Given the description of an element on the screen output the (x, y) to click on. 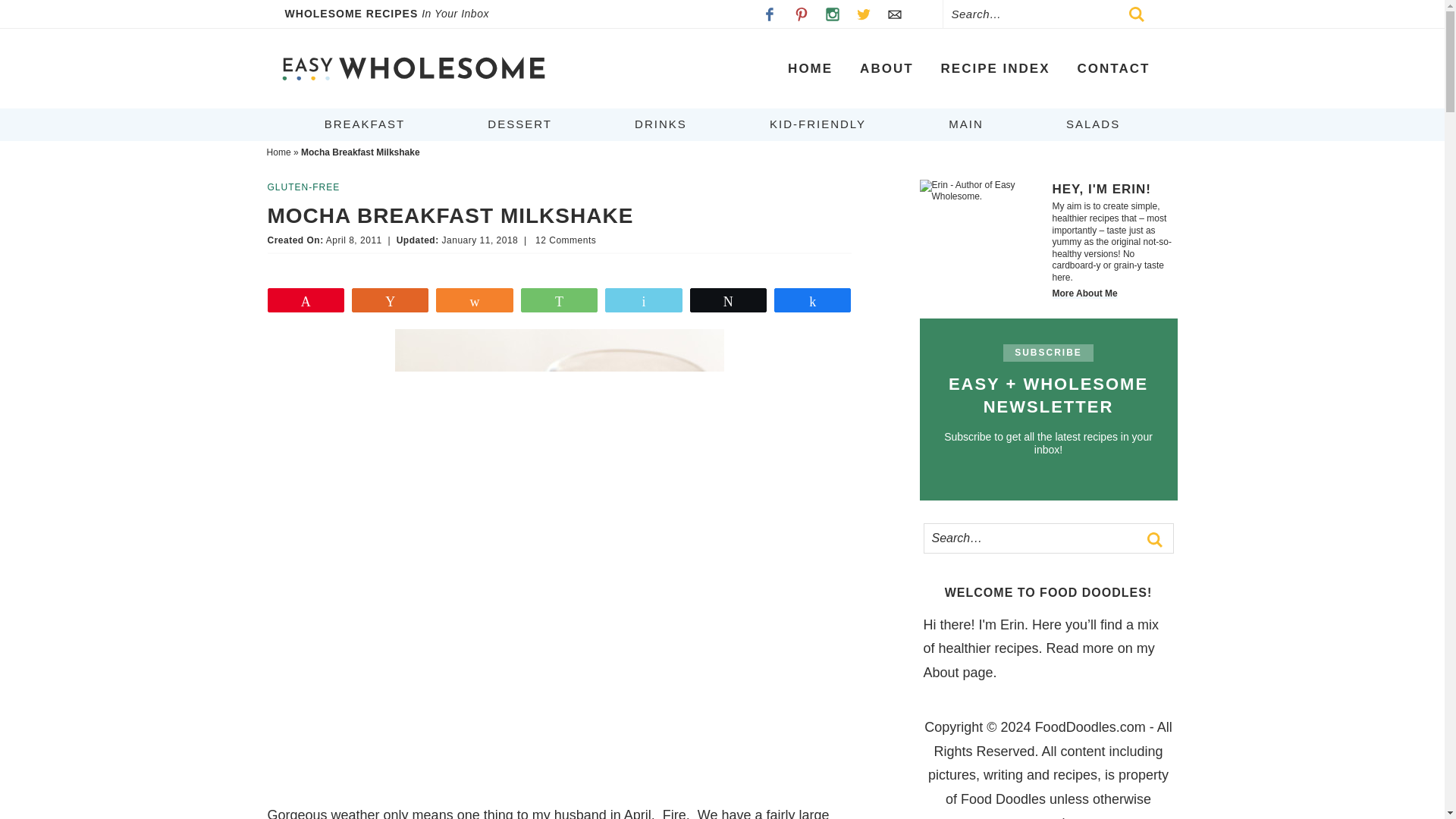
KID-FRIENDLY (817, 124)
HOME (809, 68)
ABOUT (885, 68)
SALADS (1093, 124)
Search for (1053, 13)
DRINKS (660, 124)
MAIN (965, 124)
WHOLESOME RECIPES In Your Inbox (397, 13)
DESSERT (519, 124)
EASY WHOLESOME (413, 68)
